Given the description of an element on the screen output the (x, y) to click on. 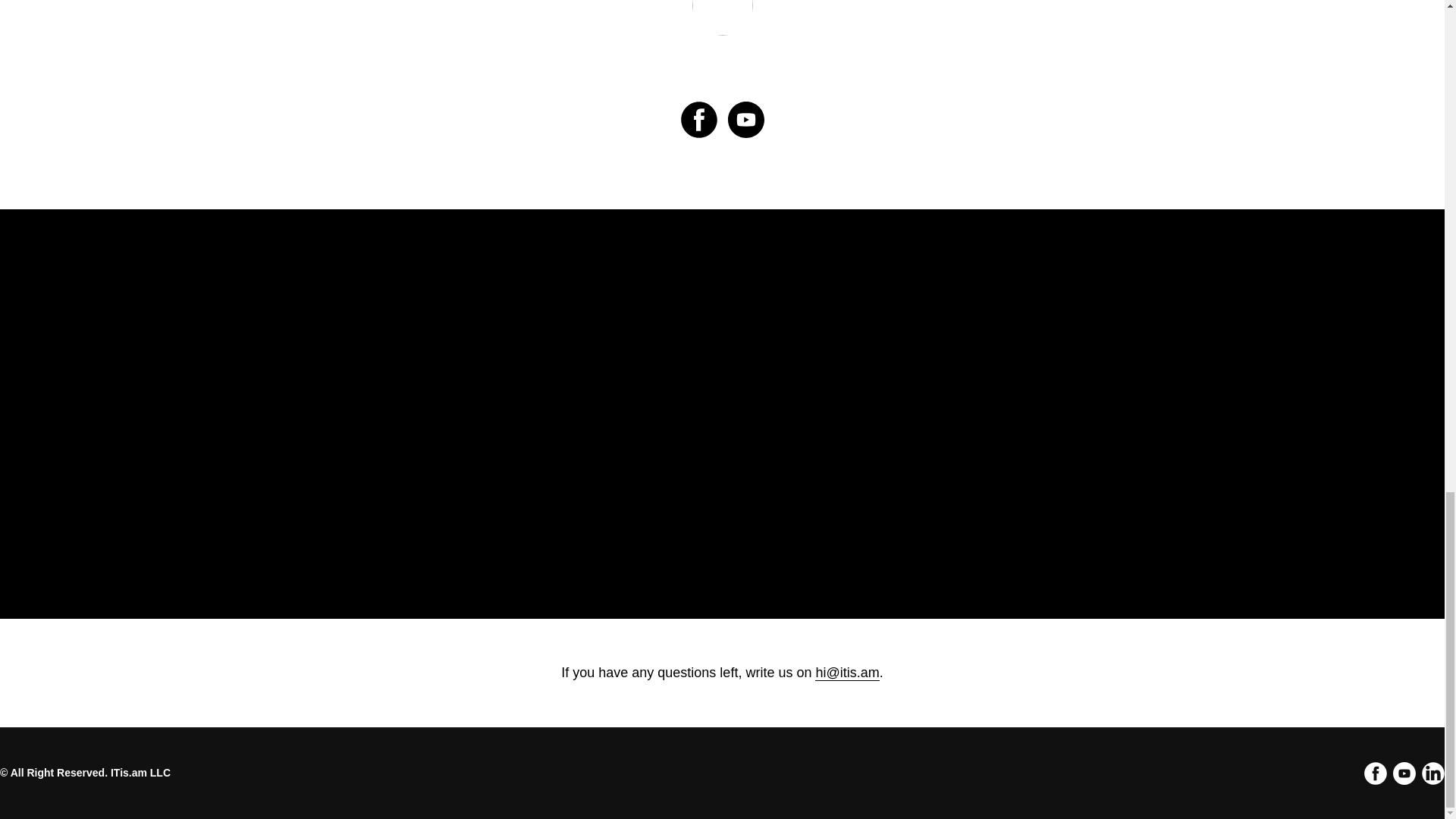
Youtube (1404, 773)
Facebook (1375, 780)
Facebook (1375, 773)
Youtube (1404, 780)
